Given the description of an element on the screen output the (x, y) to click on. 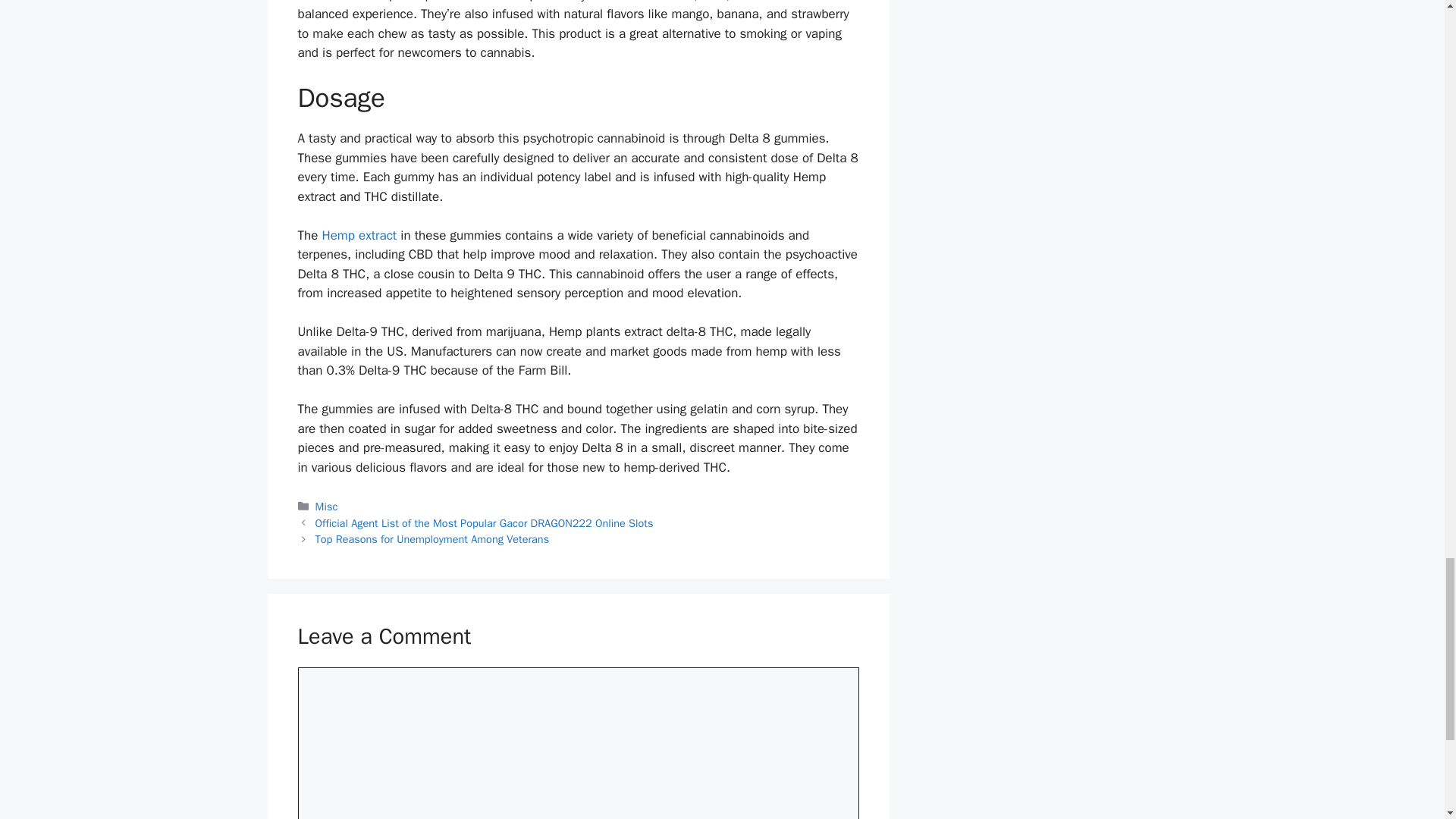
Hemp extract (358, 235)
Misc (326, 506)
Top Reasons for Unemployment Among Veterans (432, 539)
